Given the description of an element on the screen output the (x, y) to click on. 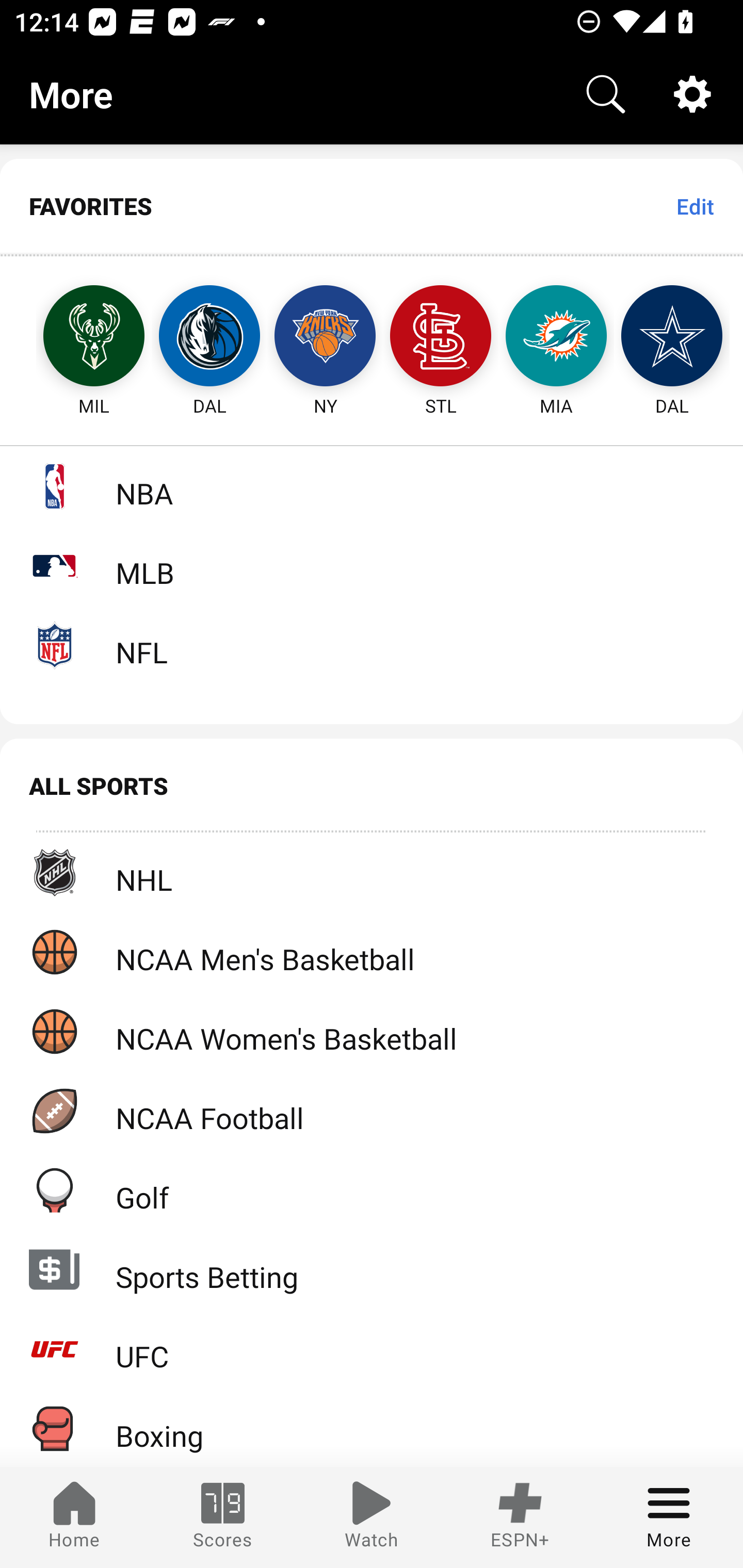
Search (605, 93)
Settings (692, 93)
Edit (695, 205)
MIL Milwaukee Bucks (75, 336)
DAL Dallas Mavericks (209, 336)
NY New York Knicks (324, 336)
STL St. Louis Cardinals (440, 336)
MIA Miami Dolphins (555, 336)
DAL Dallas Cowboys (671, 336)
NBA (371, 485)
MLB (371, 565)
NFL (371, 645)
NHL (371, 872)
NCAA Men's Basketball (371, 951)
NCAA Women's Basketball (371, 1030)
NCAA Football (371, 1110)
Golf (371, 1189)
Sports Betting (371, 1269)
UFC (371, 1349)
Boxing (371, 1428)
Home (74, 1517)
Scores (222, 1517)
Watch (371, 1517)
ESPN+ (519, 1517)
